Given the description of an element on the screen output the (x, y) to click on. 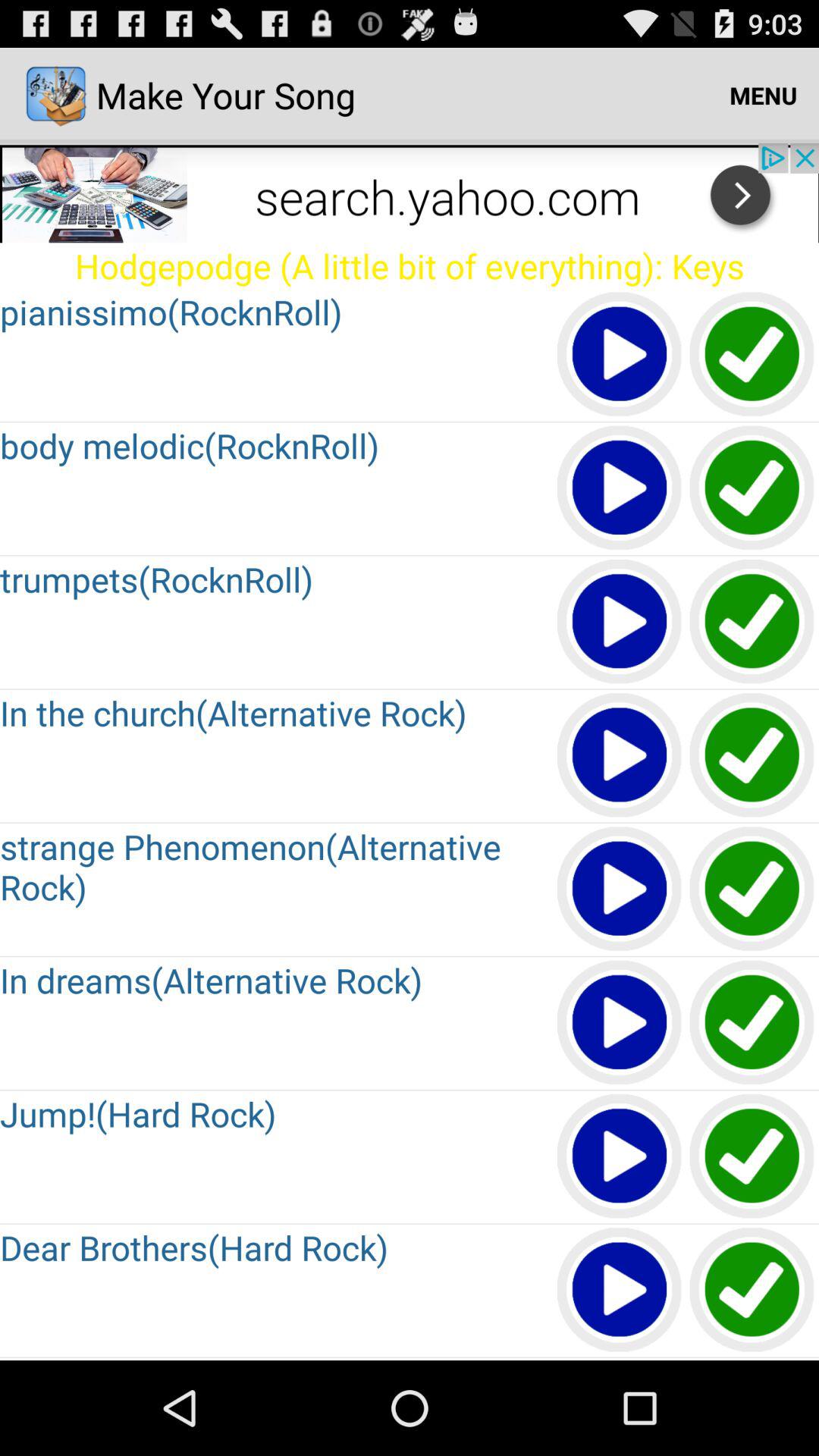
save the audio (752, 1290)
